Given the description of an element on the screen output the (x, y) to click on. 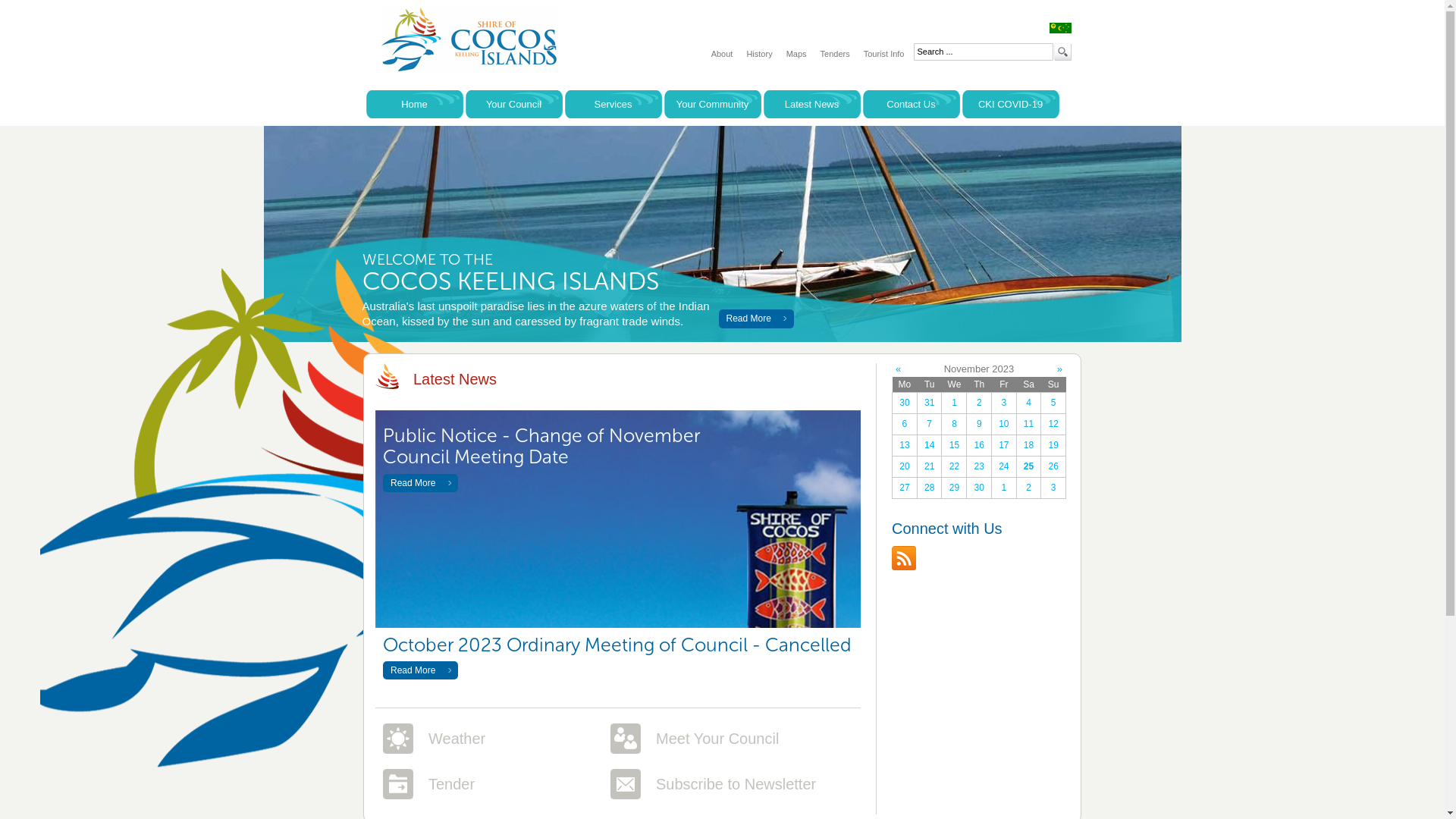
Tenders Element type: text (835, 53)
CKI COVID-19 Element type: text (1009, 104)
18 Element type: text (1028, 445)
About Element type: text (722, 53)
27 Element type: text (904, 487)
Read More Element type: text (755, 319)
Latest News Element type: text (810, 104)
3 Element type: text (1053, 487)
14 Element type: text (929, 445)
26 Element type: text (1053, 466)
1 Element type: text (953, 402)
13 Element type: text (904, 445)
Meet Your Council Element type: text (716, 738)
8 Element type: text (953, 424)
3 Element type: text (1003, 402)
21 Element type: text (929, 466)
1 Element type: text (1003, 487)
25 Element type: text (1028, 466)
6 Element type: text (904, 424)
Tourist Info Element type: text (883, 53)
29 Element type: text (953, 487)
17 Element type: text (1003, 445)
Your Community Element type: text (712, 104)
30 Element type: text (978, 487)
4 Element type: text (1028, 402)
Read More Element type: text (420, 670)
2 Element type: text (978, 402)
Services Element type: text (612, 104)
22 Element type: text (953, 466)
5 Element type: text (1053, 402)
12 Element type: text (1053, 424)
23 Element type: text (978, 466)
11 Element type: text (1028, 424)
Weather Element type: text (456, 738)
7 Element type: text (929, 424)
Tender Element type: text (451, 783)
Subscribe to Newsletter Element type: text (735, 783)
2 Element type: text (1028, 487)
Contact Us Element type: text (911, 104)
16 Element type: text (978, 445)
9 Element type: text (978, 424)
30 Element type: text (904, 402)
Home Element type: text (413, 104)
28 Element type: text (929, 487)
19 Element type: text (1053, 445)
Your Council Element type: text (513, 104)
24 Element type: text (1003, 466)
History Element type: text (758, 53)
10 Element type: text (1003, 424)
20 Element type: text (904, 466)
Read More Element type: text (420, 482)
Maps Element type: text (796, 53)
15 Element type: text (953, 445)
31 Element type: text (929, 402)
RSS Element type: text (903, 558)
